Given the description of an element on the screen output the (x, y) to click on. 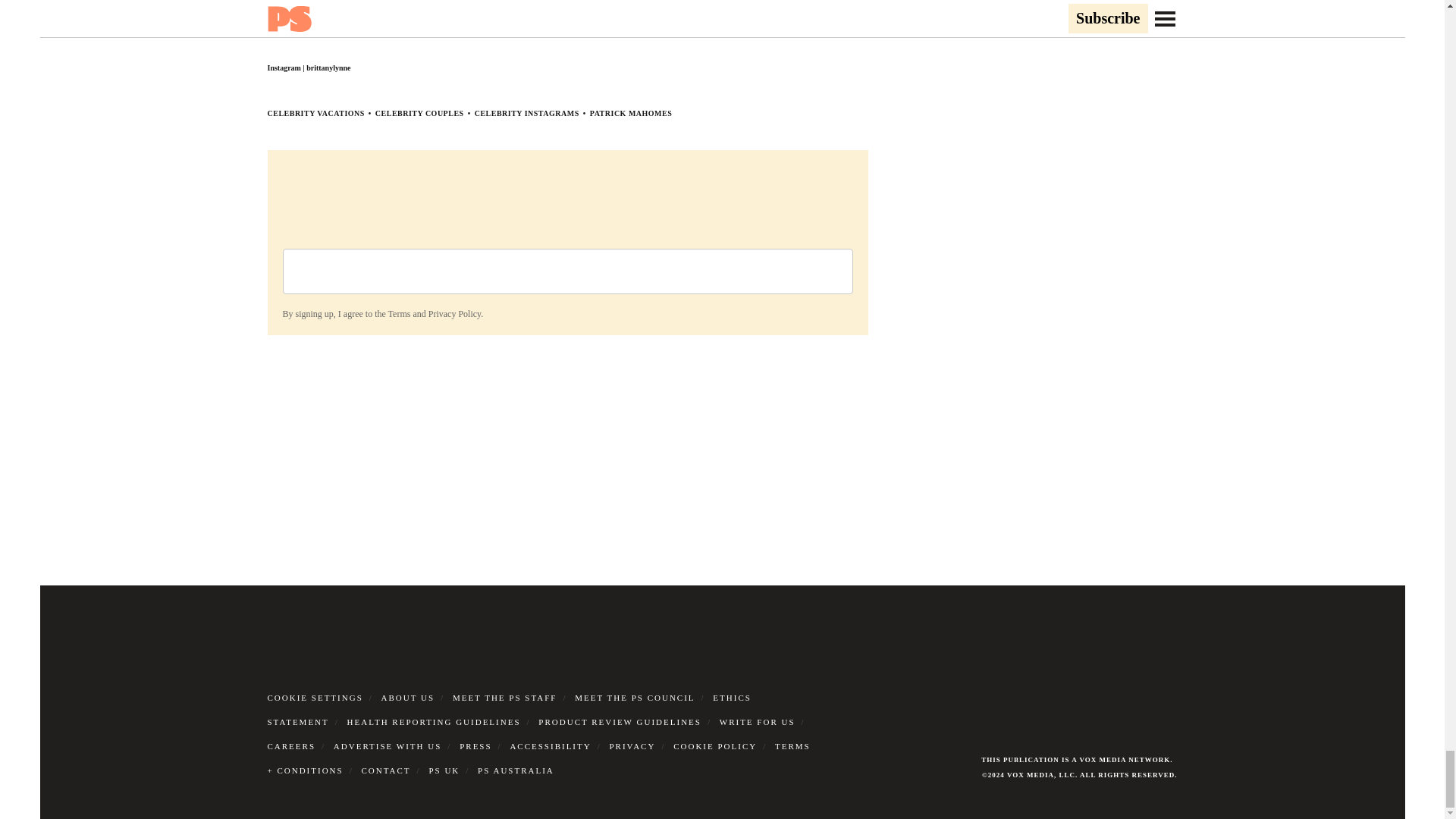
Privacy Policy. (455, 313)
PATRICK MAHOMES (630, 112)
CELEBRITY COUPLES (419, 112)
Terms (399, 313)
CELEBRITY INSTAGRAMS (526, 112)
CELEBRITY VACATIONS (315, 112)
